Given the description of an element on the screen output the (x, y) to click on. 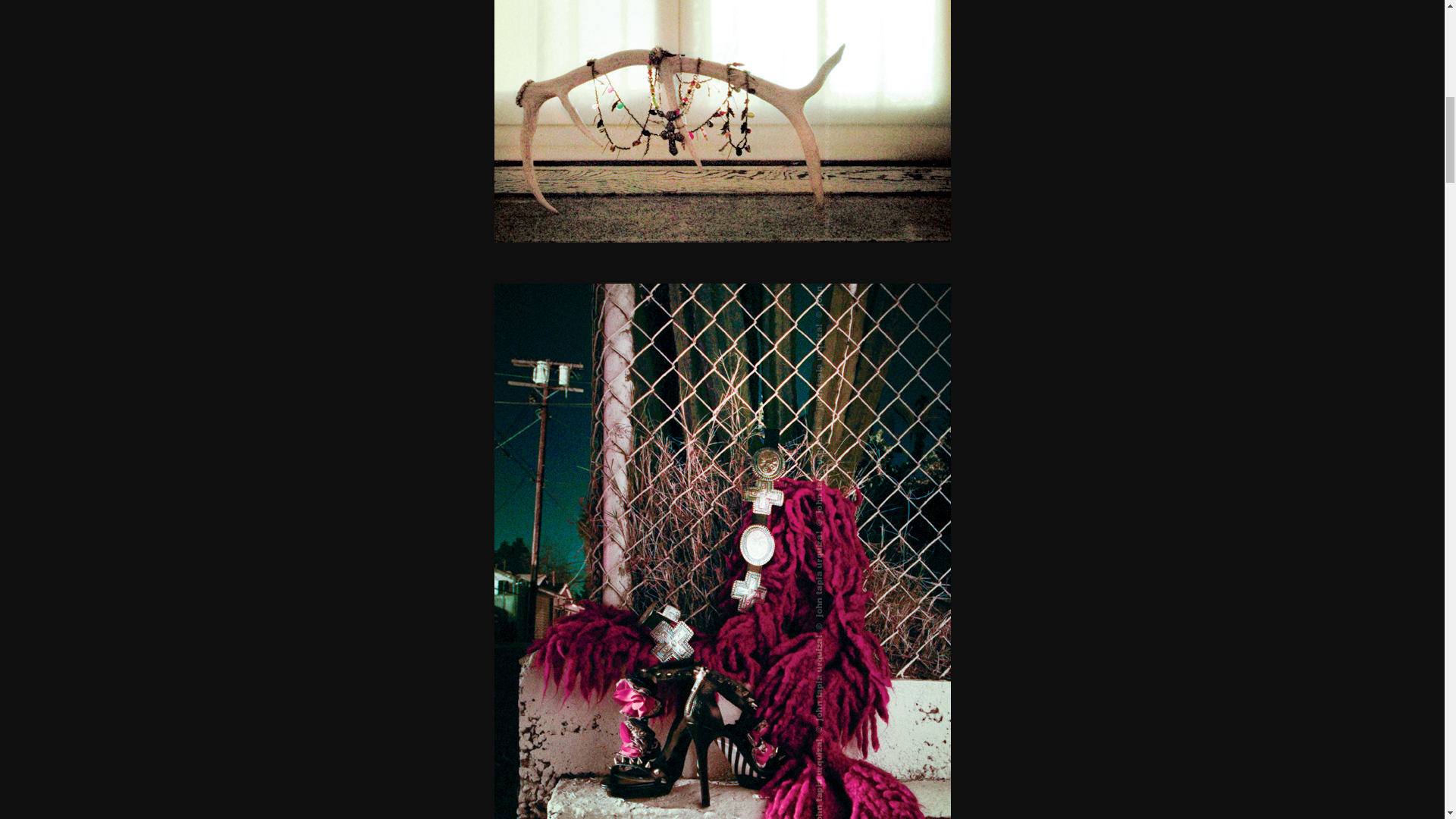
arroyo nights 01 (722, 121)
